Given the description of an element on the screen output the (x, y) to click on. 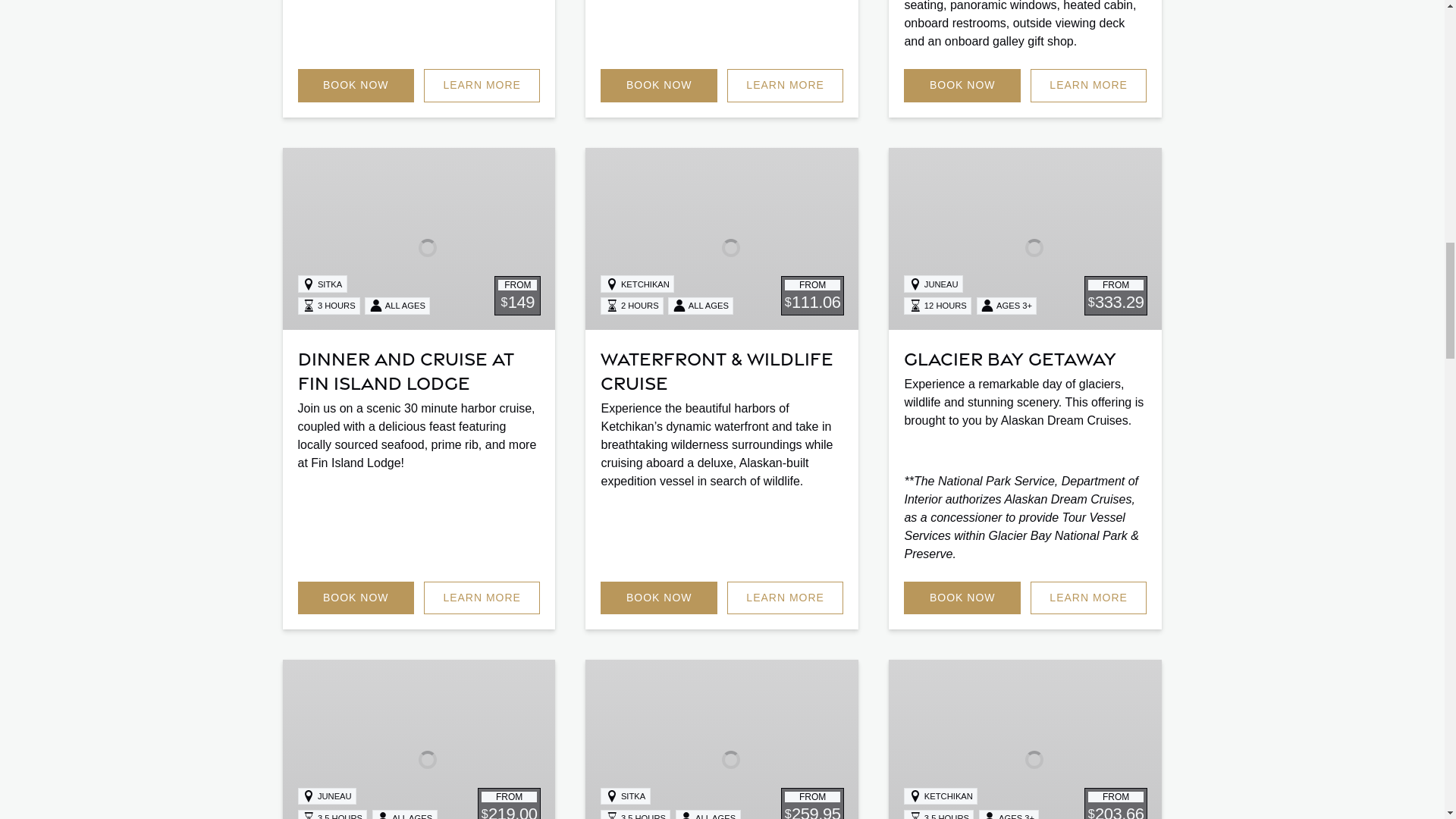
Dinner and Cruise at Fin Island Lodge (405, 369)
BOOK NOW (658, 85)
BOOK NOW (355, 85)
LEARN MORE (1088, 85)
LEARN MORE (785, 85)
BOOK NOW (962, 85)
LEARN MORE (481, 85)
